Given the description of an element on the screen output the (x, y) to click on. 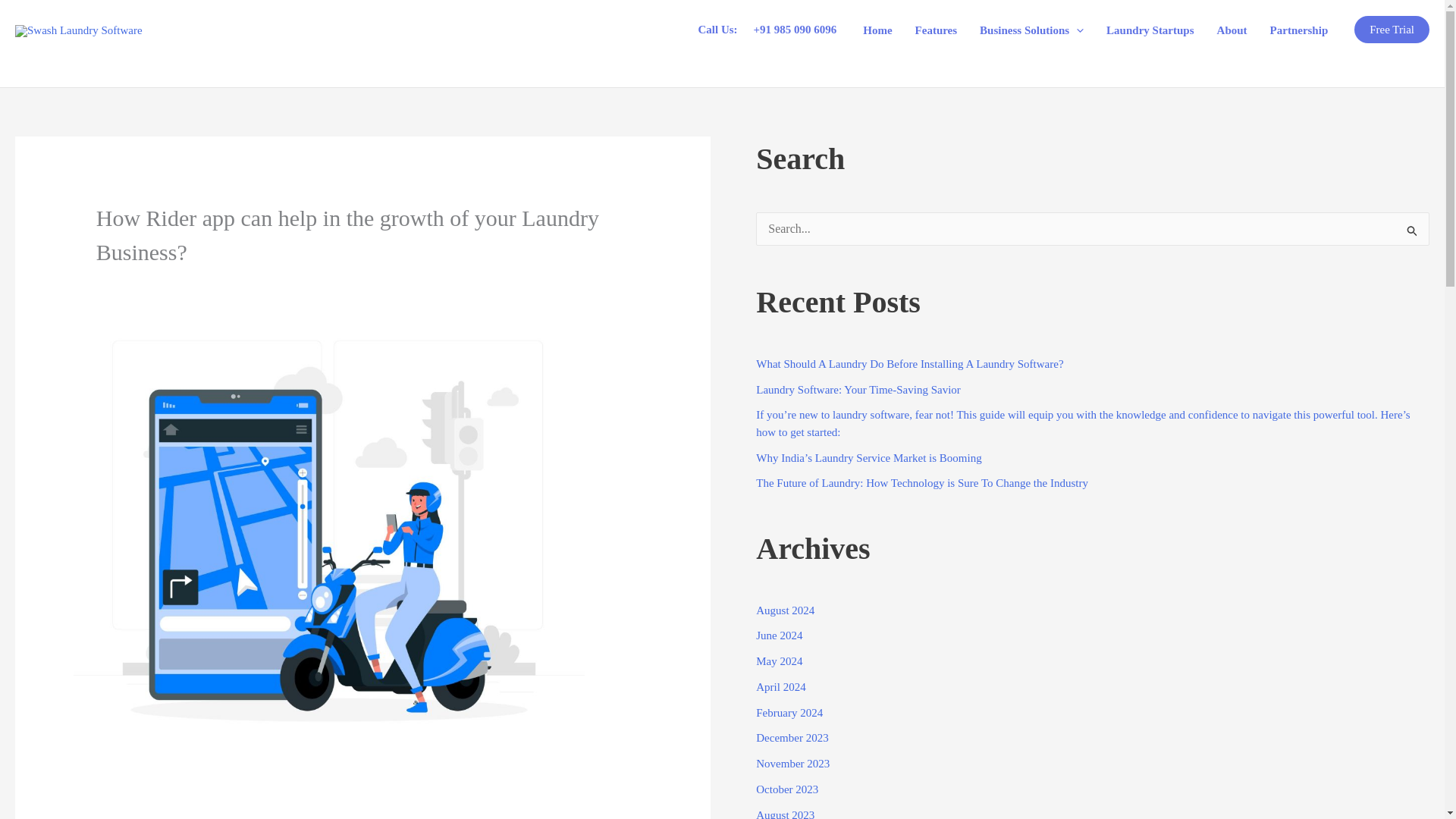
Features (936, 30)
Partnership (1299, 30)
Laundry Startups (1149, 30)
Free Trial (1391, 29)
Laundry Software: Your Time-Saving Savior (857, 389)
Business Solutions (1031, 30)
